Given the description of an element on the screen output the (x, y) to click on. 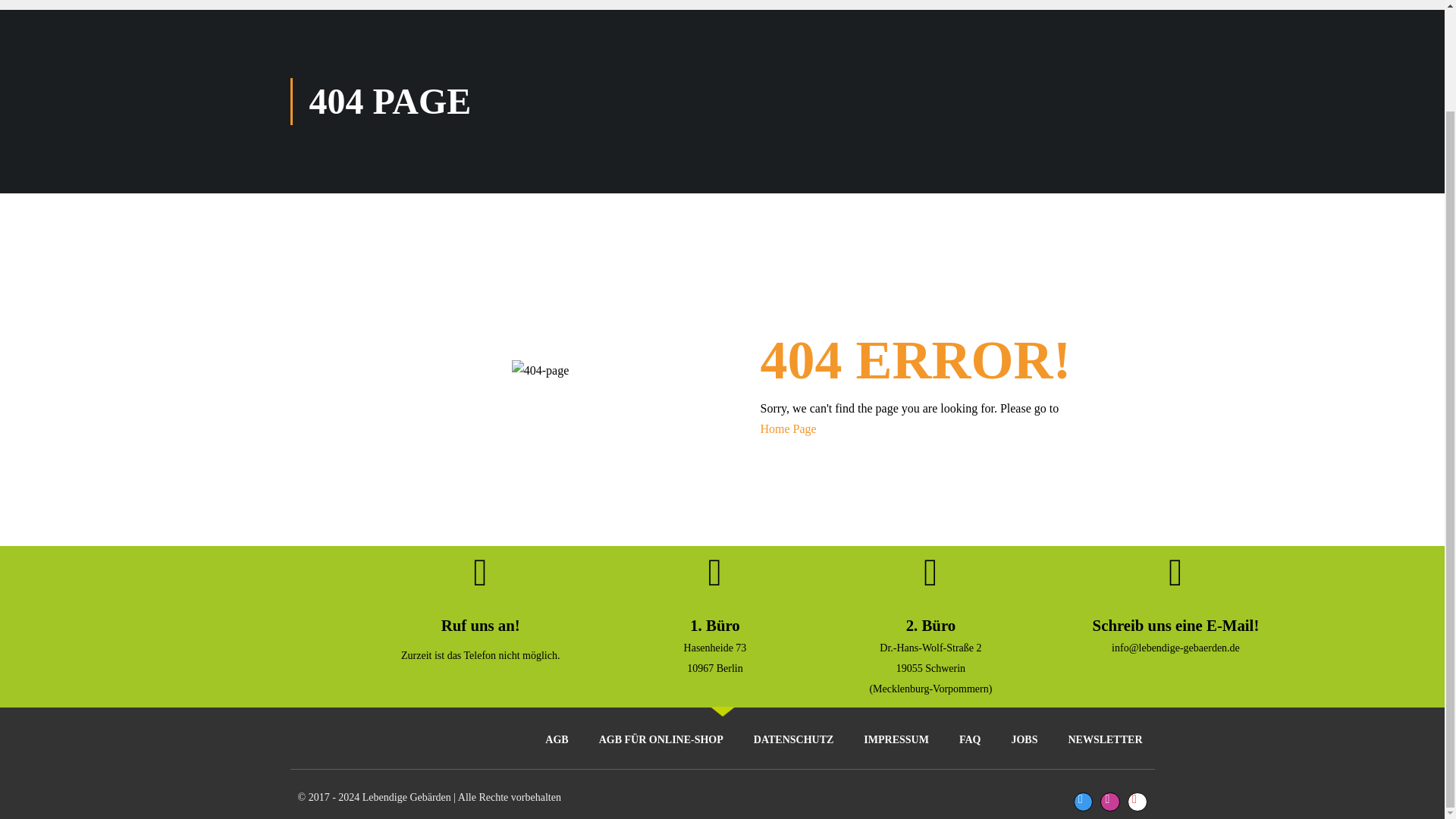
Schreib uns eine E-Mail! (1176, 624)
AGB (556, 739)
FAQ (969, 739)
Home Page (787, 428)
JOBS (1023, 739)
DATENSCHUTZ (793, 739)
NEWSLETTER (1104, 739)
IMPRESSUM (895, 739)
